Given the description of an element on the screen output the (x, y) to click on. 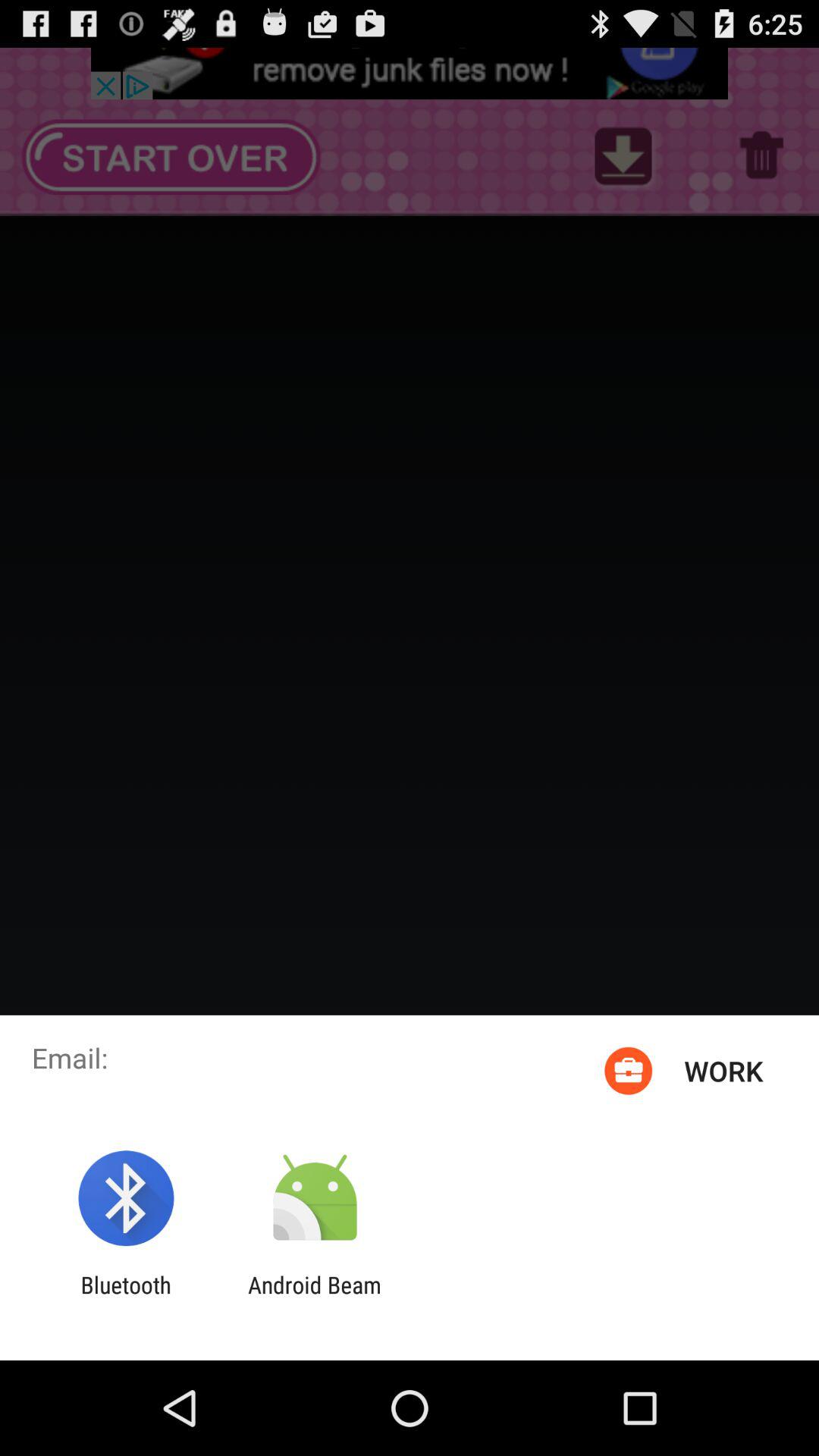
open android beam app (314, 1298)
